Given the description of an element on the screen output the (x, y) to click on. 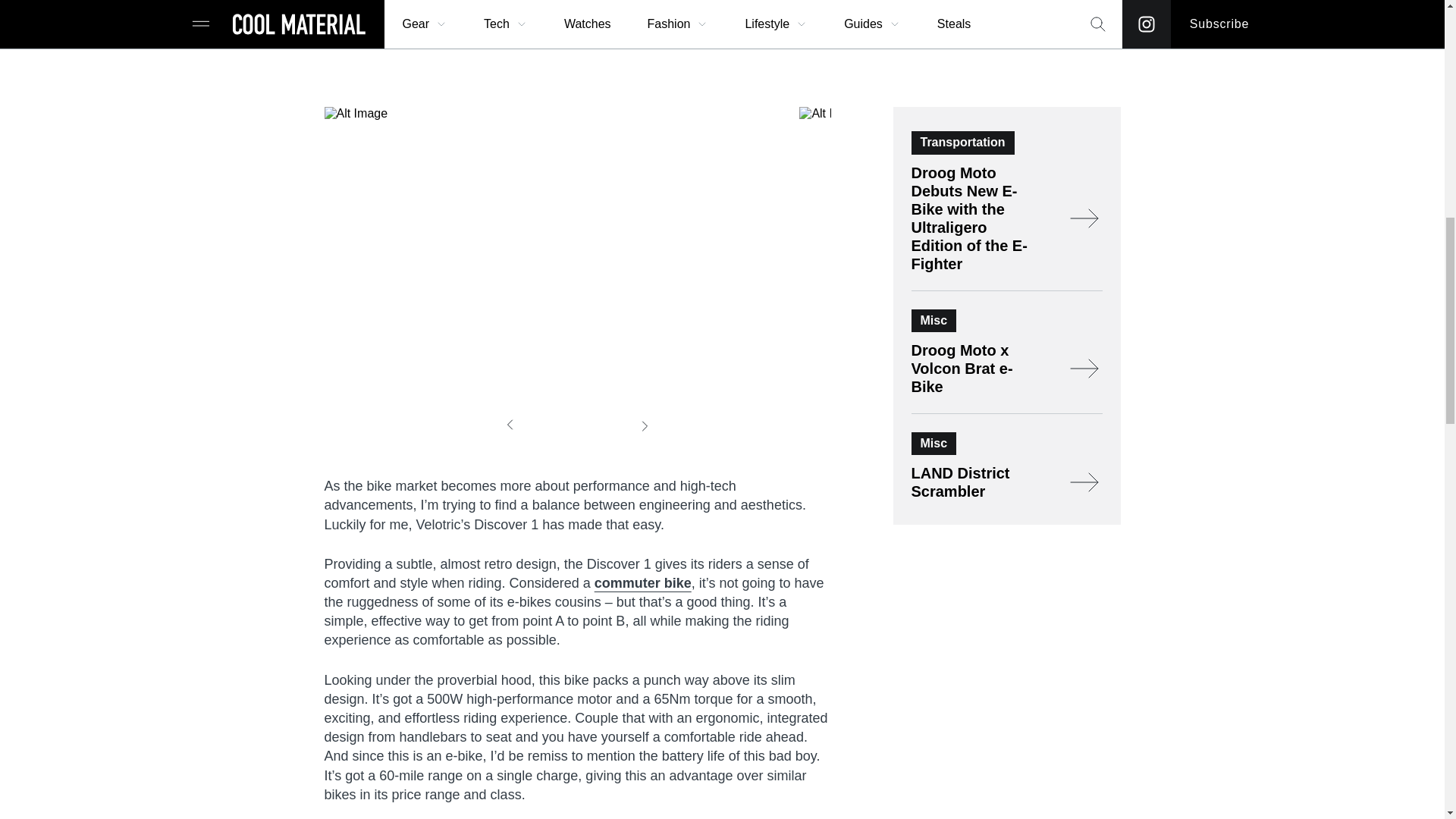
The Best Commuter Bikes You Can Buy Right Now (642, 582)
